Given the description of an element on the screen output the (x, y) to click on. 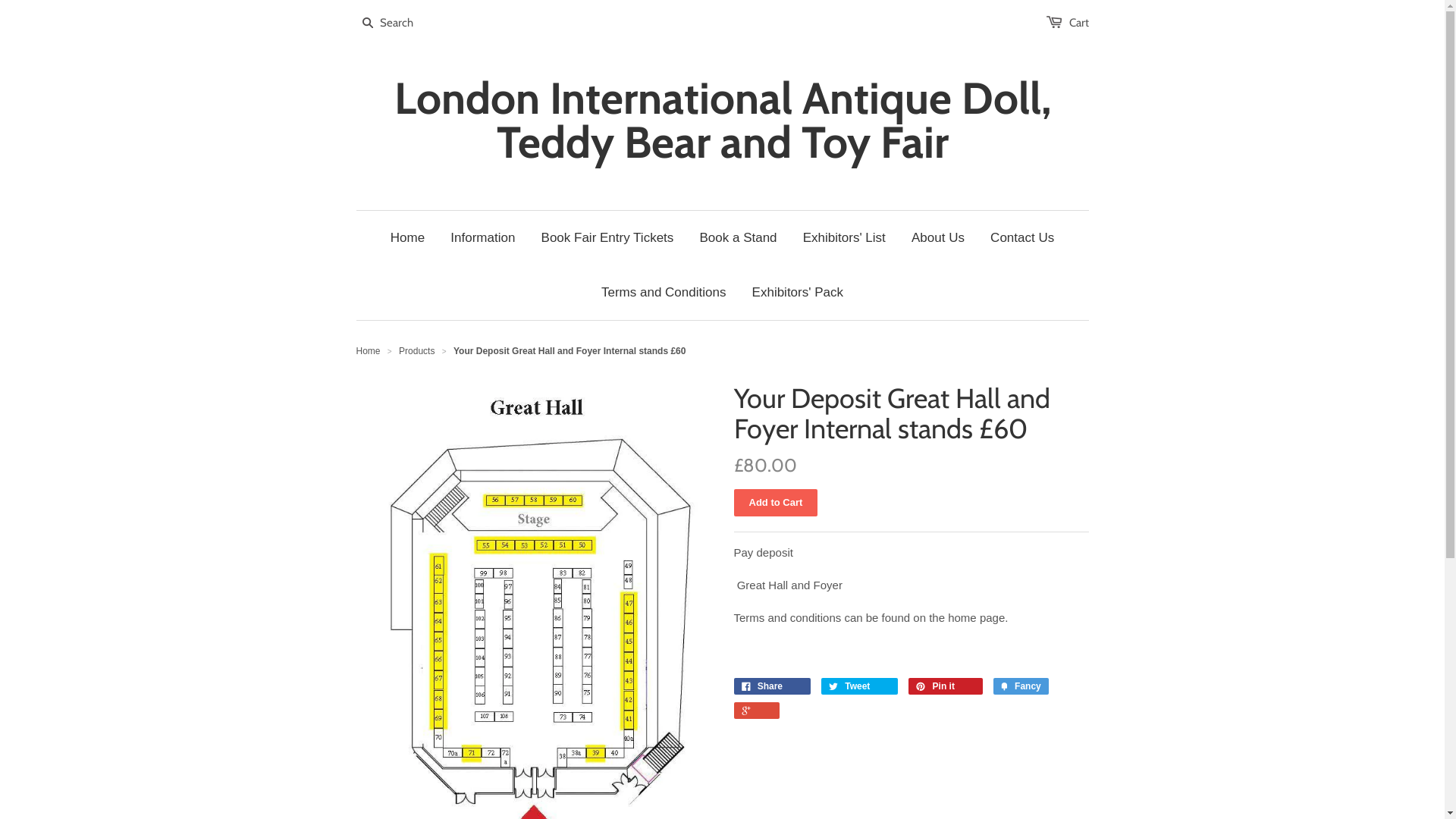
London International Antique Doll, Teddy Bear and Toy Fair Element type: text (722, 120)
Cart Element type: text (1078, 22)
Home Element type: text (407, 237)
Book a Stand Element type: text (738, 237)
Home Element type: text (368, 350)
Information Element type: text (482, 237)
Book Fair Entry Tickets Element type: text (607, 237)
Exhibitors' List Element type: text (844, 237)
Tweet Element type: text (859, 685)
Contact Us Element type: text (1022, 237)
Exhibitors' Pack Element type: text (797, 292)
Pin it Element type: text (945, 685)
Add to Cart Element type: text (776, 502)
About Us Element type: text (937, 237)
Share Element type: text (772, 685)
Products Element type: text (416, 350)
Terms and Conditions Element type: text (663, 292)
Fancy Element type: text (1020, 685)
